Given the description of an element on the screen output the (x, y) to click on. 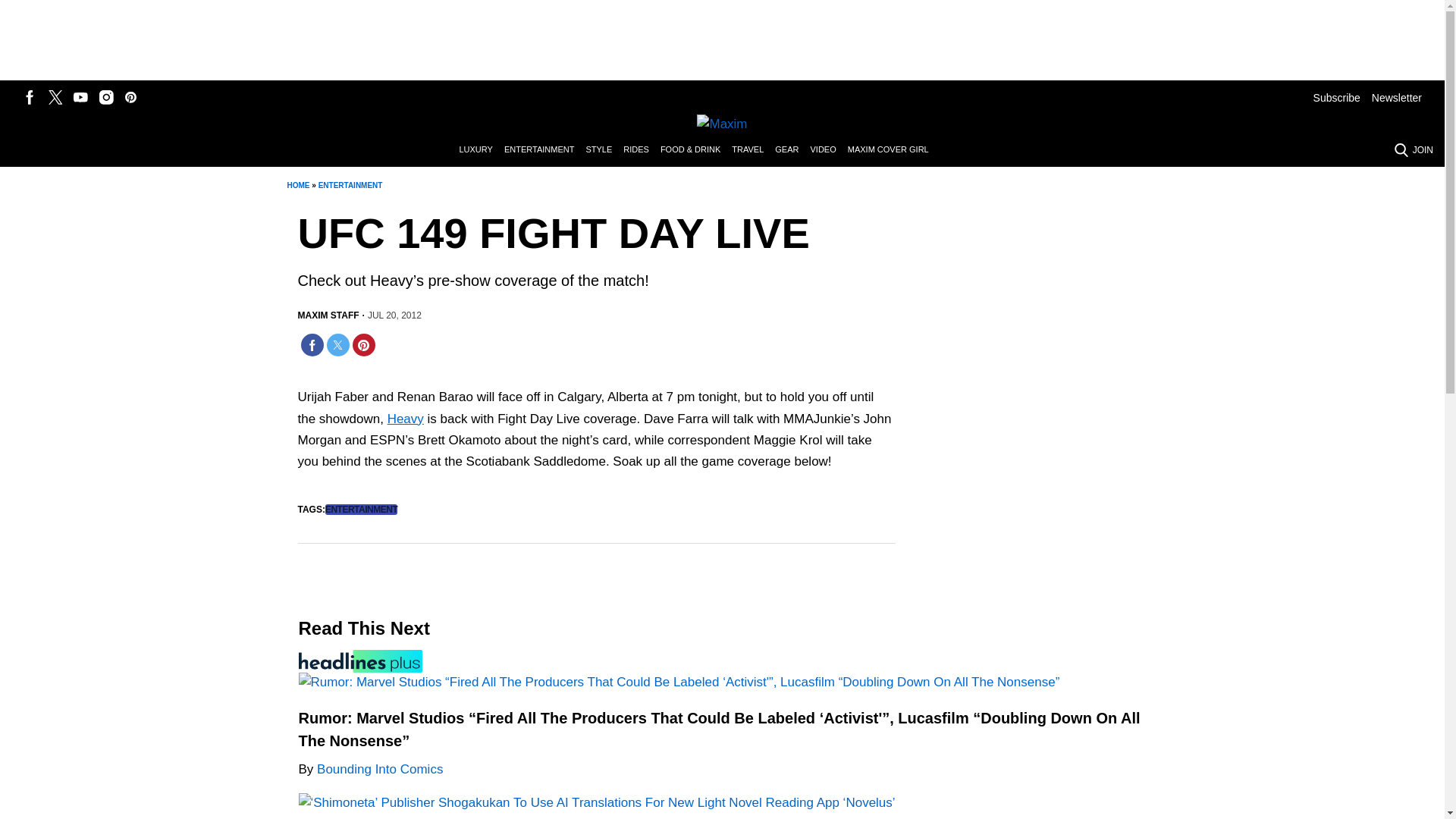
MAXIM STAFF (327, 315)
RIDES (642, 150)
Posts by Maxim Staff (327, 315)
ENTERTAINMENT (350, 184)
Follow us on Twitter (55, 97)
GEAR (791, 150)
TRAVEL (753, 150)
Share on Facebook (311, 344)
VIDEO (828, 150)
Newsletter (1396, 97)
STYLE (604, 150)
Subscribe (1336, 97)
HOME (297, 184)
Follow us on Youtube (80, 97)
JOIN (1422, 150)
